Given the description of an element on the screen output the (x, y) to click on. 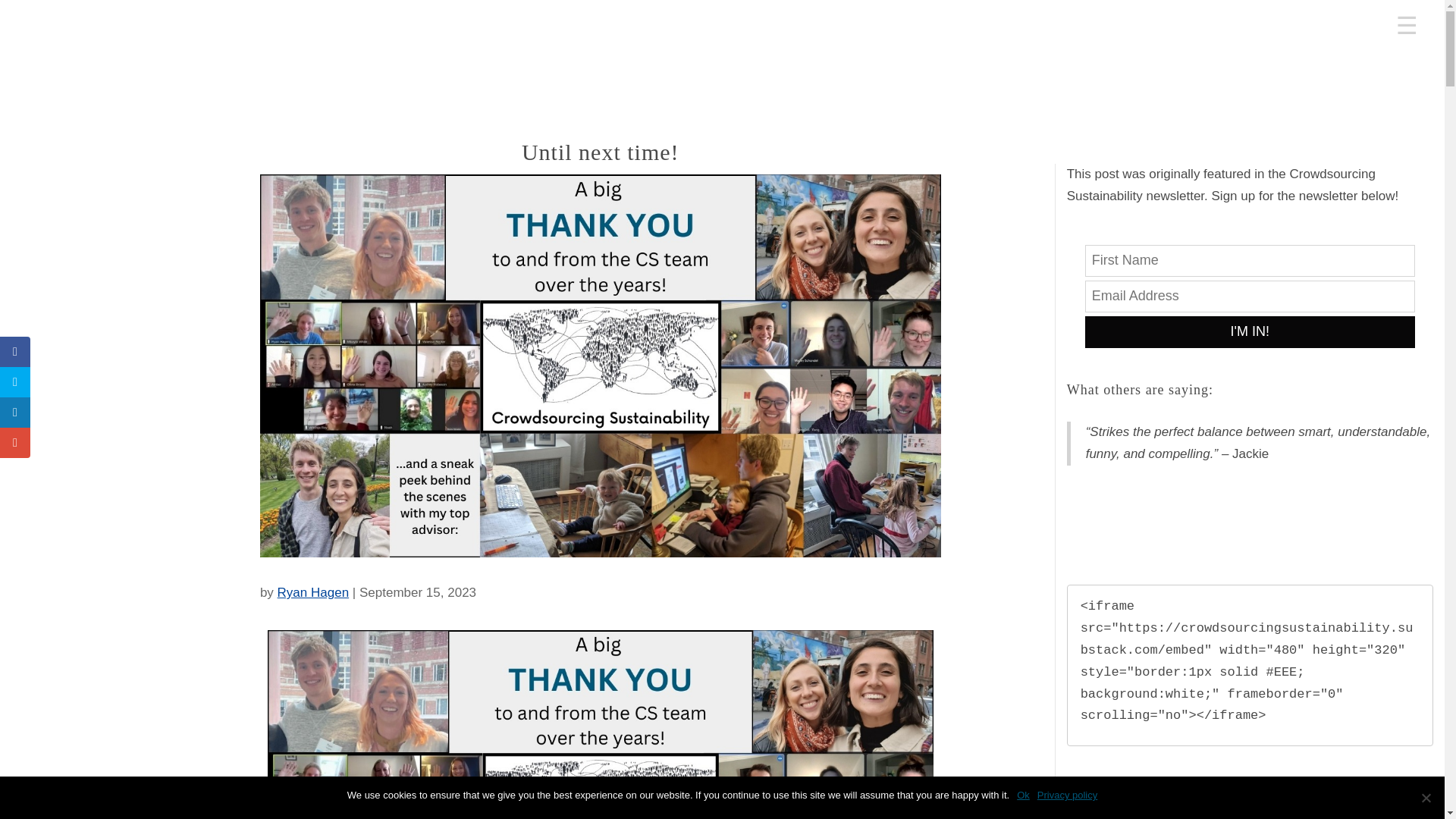
Ryan Hagen (313, 592)
Posts by Ryan Hagen (313, 592)
No (1425, 797)
